Given the description of an element on the screen output the (x, y) to click on. 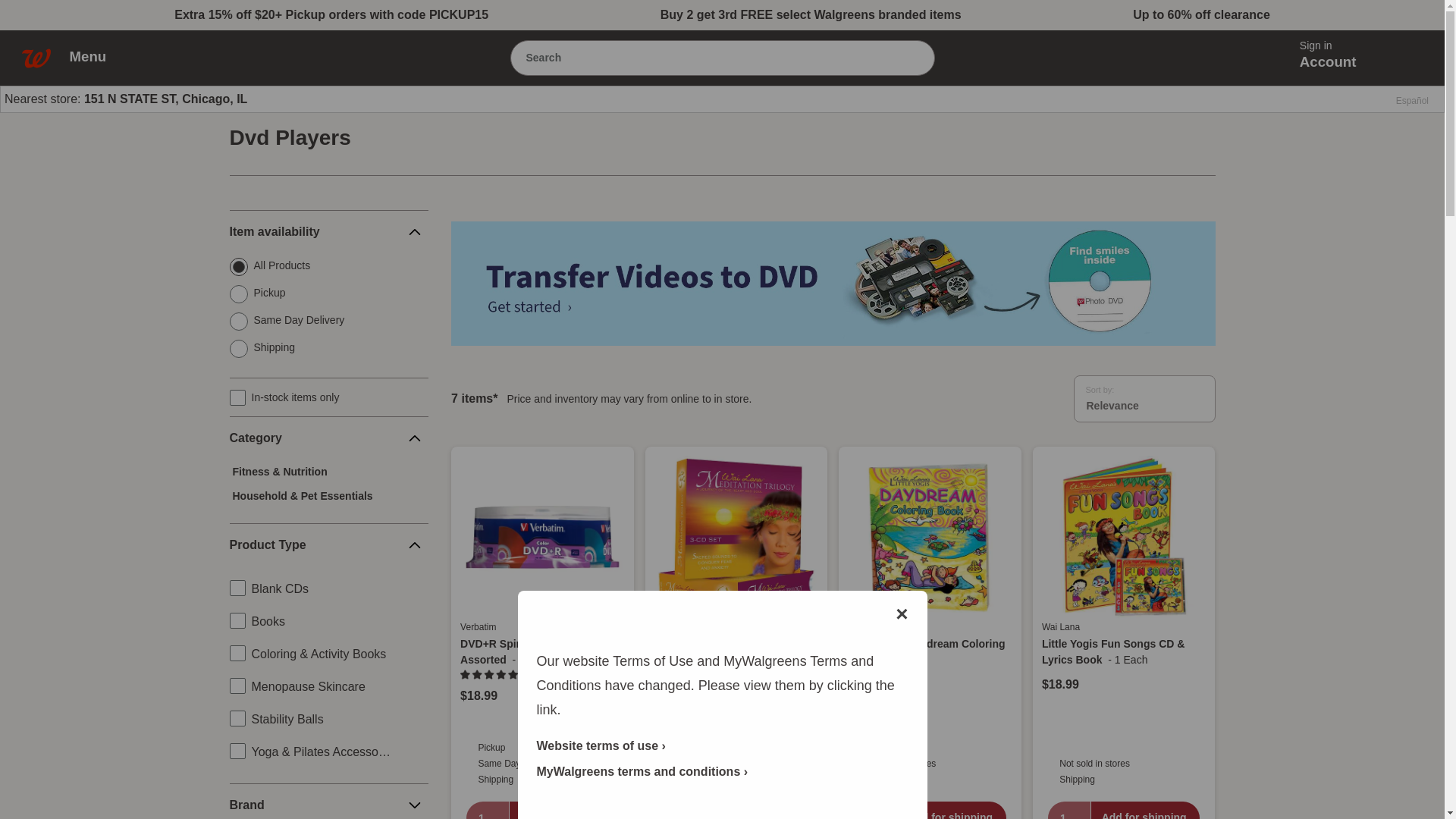
Sign in (1335, 45)
Buy 2 get 3rd FREE select Walgreens branded items (810, 15)
Search (909, 57)
Menu (95, 55)
Search (701, 57)
